Given the description of an element on the screen output the (x, y) to click on. 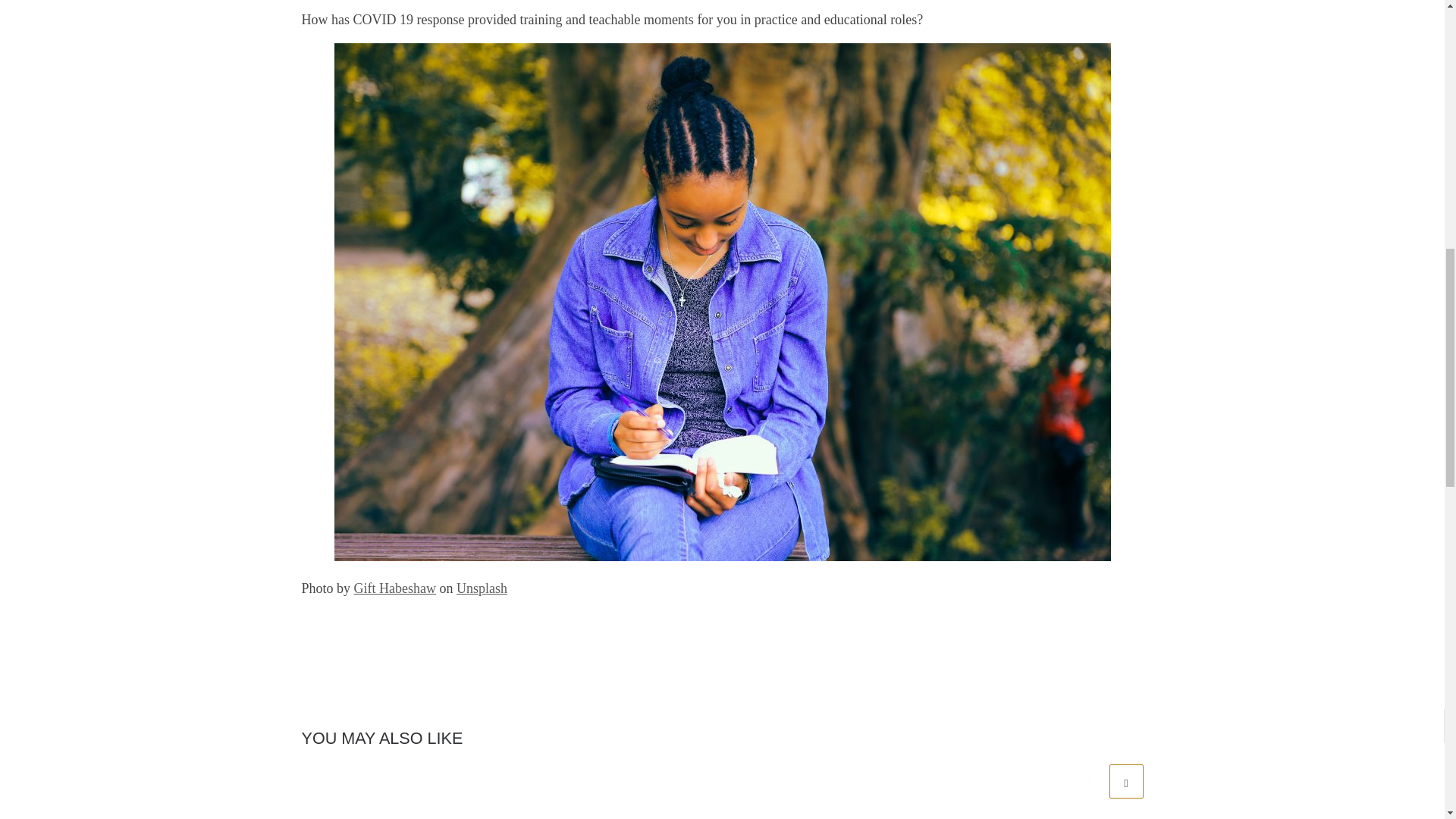
Unsplash (481, 588)
Gift Habeshaw (394, 588)
Previous related articles (1088, 781)
Next related articles (1125, 781)
